Given the description of an element on the screen output the (x, y) to click on. 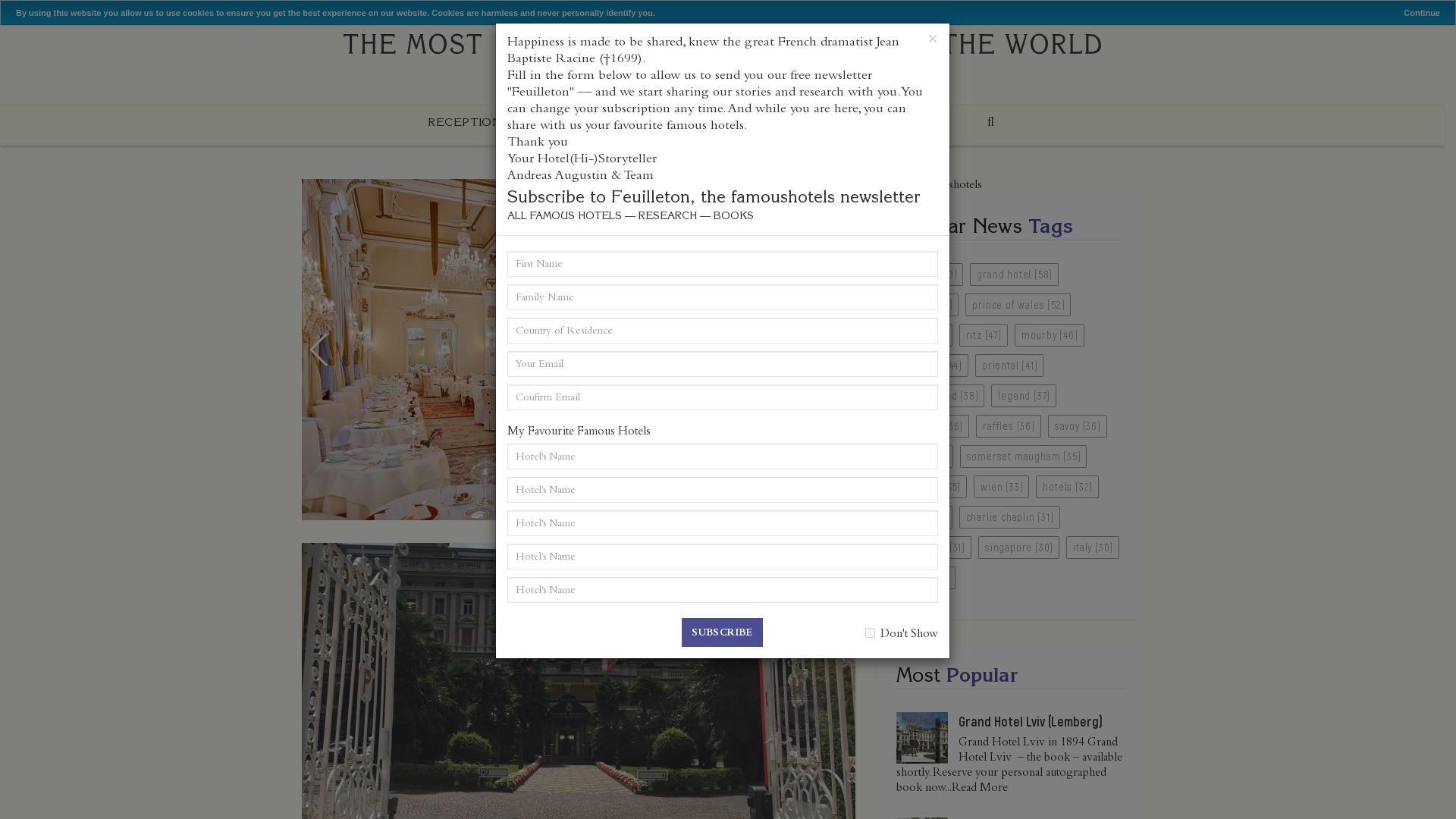
BOOKSHOP (693, 121)
on (869, 633)
RECEPTION (464, 121)
Subscribe (721, 632)
HOTELS (578, 121)
Continue (1421, 12)
